Given the description of an element on the screen output the (x, y) to click on. 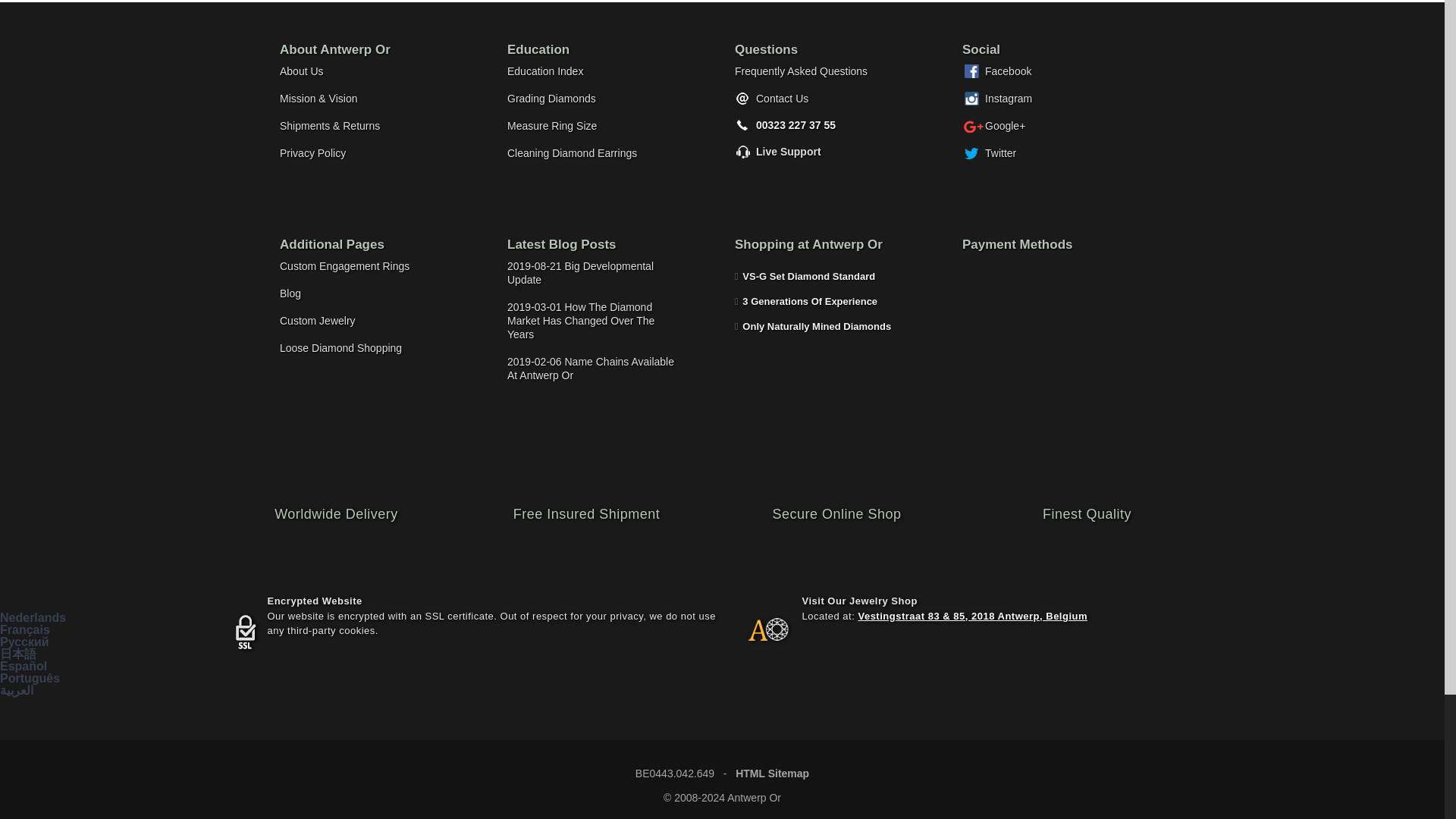
Measure Ring Size (592, 125)
About Us (364, 70)
Grading Diamonds (592, 98)
Privacy Policy (364, 152)
Cleaning Diamond Earrings (592, 152)
Education Index (592, 70)
Frequently Asked Questions (820, 70)
Antwerp Or (756, 635)
